Given the description of an element on the screen output the (x, y) to click on. 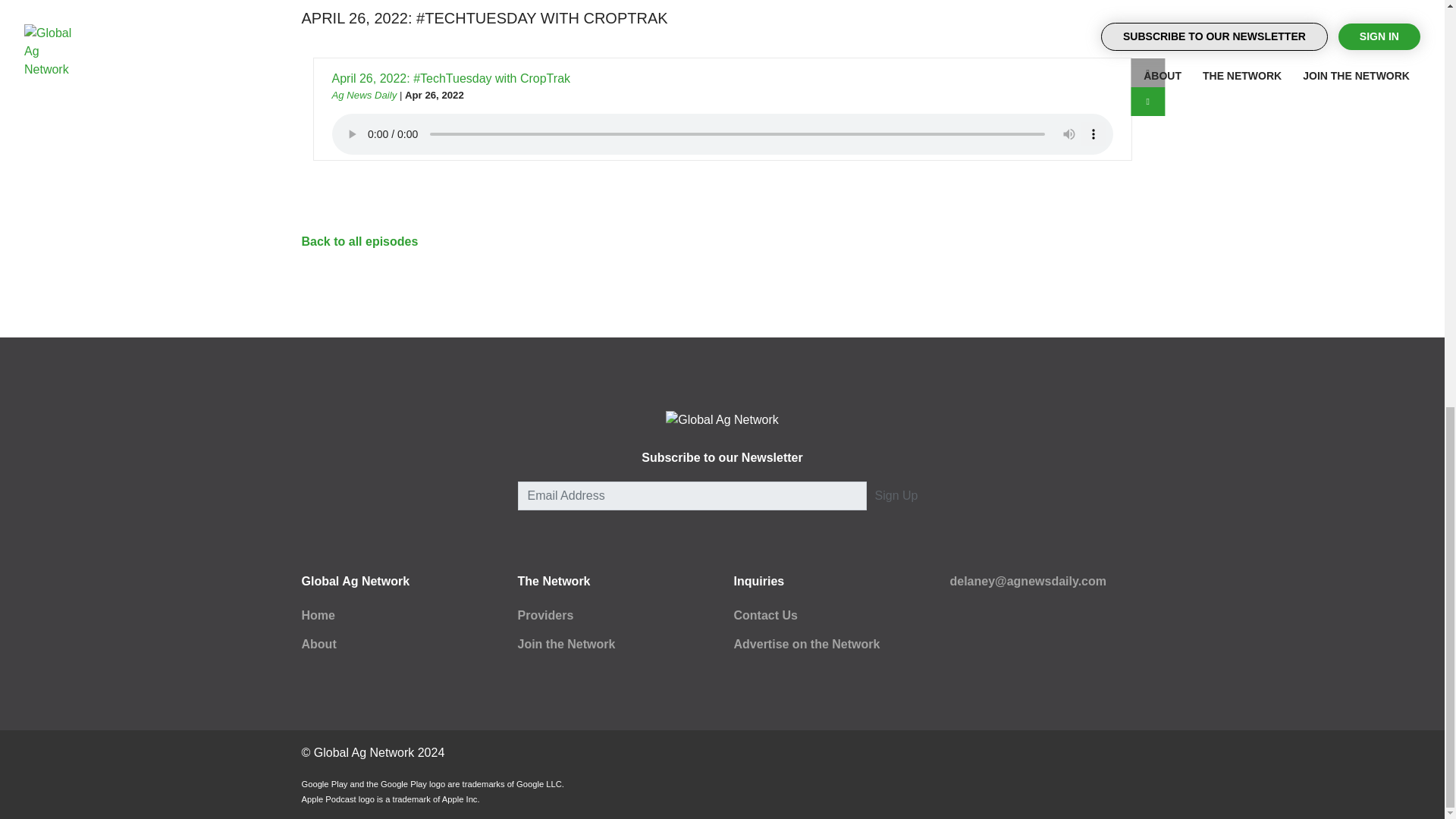
Back to all episodes (360, 241)
Home (317, 615)
Ag News Daily (364, 94)
Contact Us (765, 615)
About (318, 644)
Join the Network (565, 644)
Embed This Episode (1147, 72)
Sign Up (896, 495)
Providers (544, 615)
Advertise on the Network (806, 644)
